Given the description of an element on the screen output the (x, y) to click on. 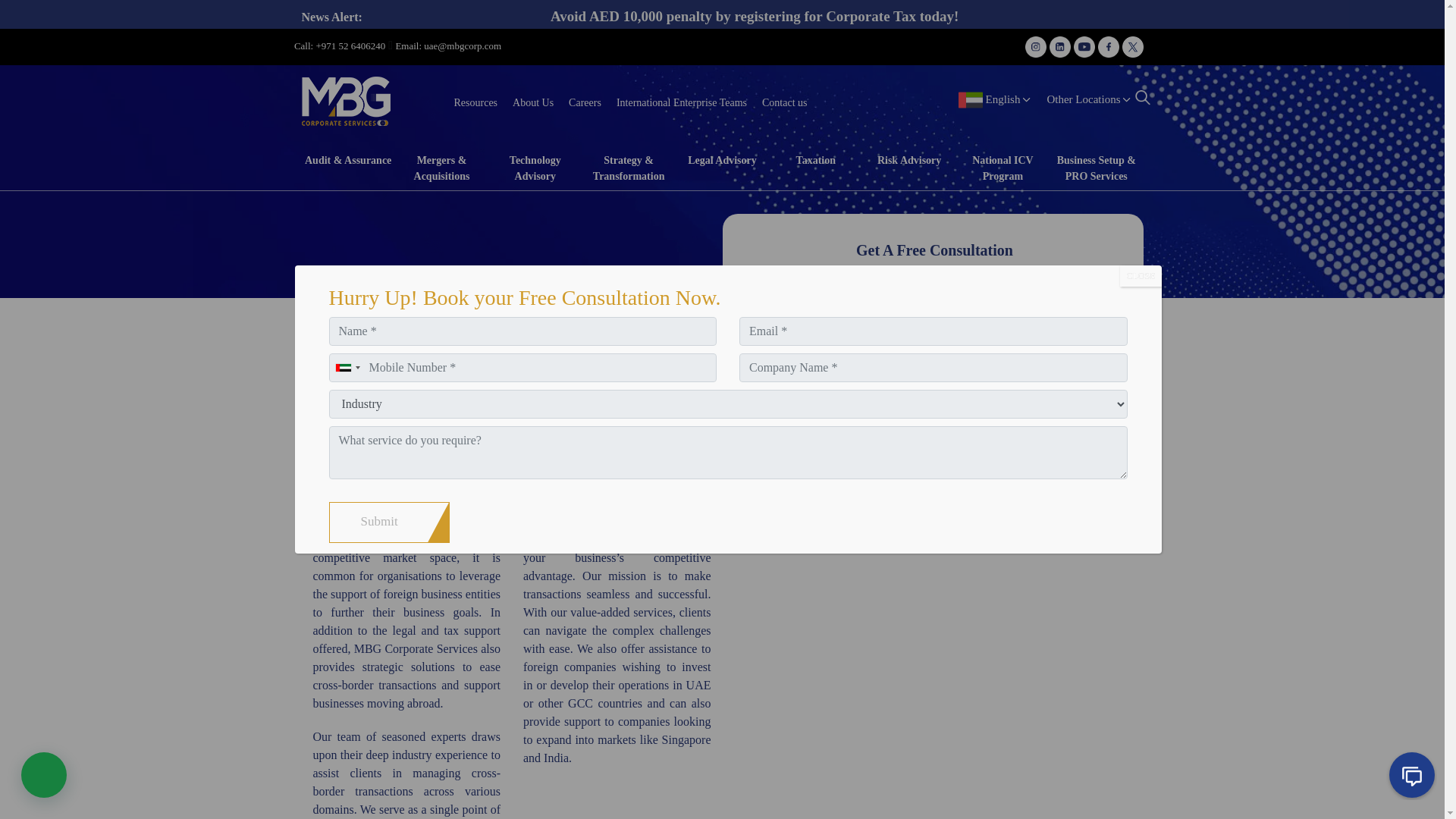
Go to the Legal Advisory Categories archives. (379, 342)
Resources (475, 102)
International Enterprise Teams (681, 102)
Careers (584, 102)
About Us (532, 102)
Submit (379, 521)
Contact us (784, 102)
Webchat Widget (1402, 766)
Go to MBG. (314, 342)
Other Locations (1088, 99)
English (1008, 99)
English (1002, 99)
Submit (934, 462)
